Given the description of an element on the screen output the (x, y) to click on. 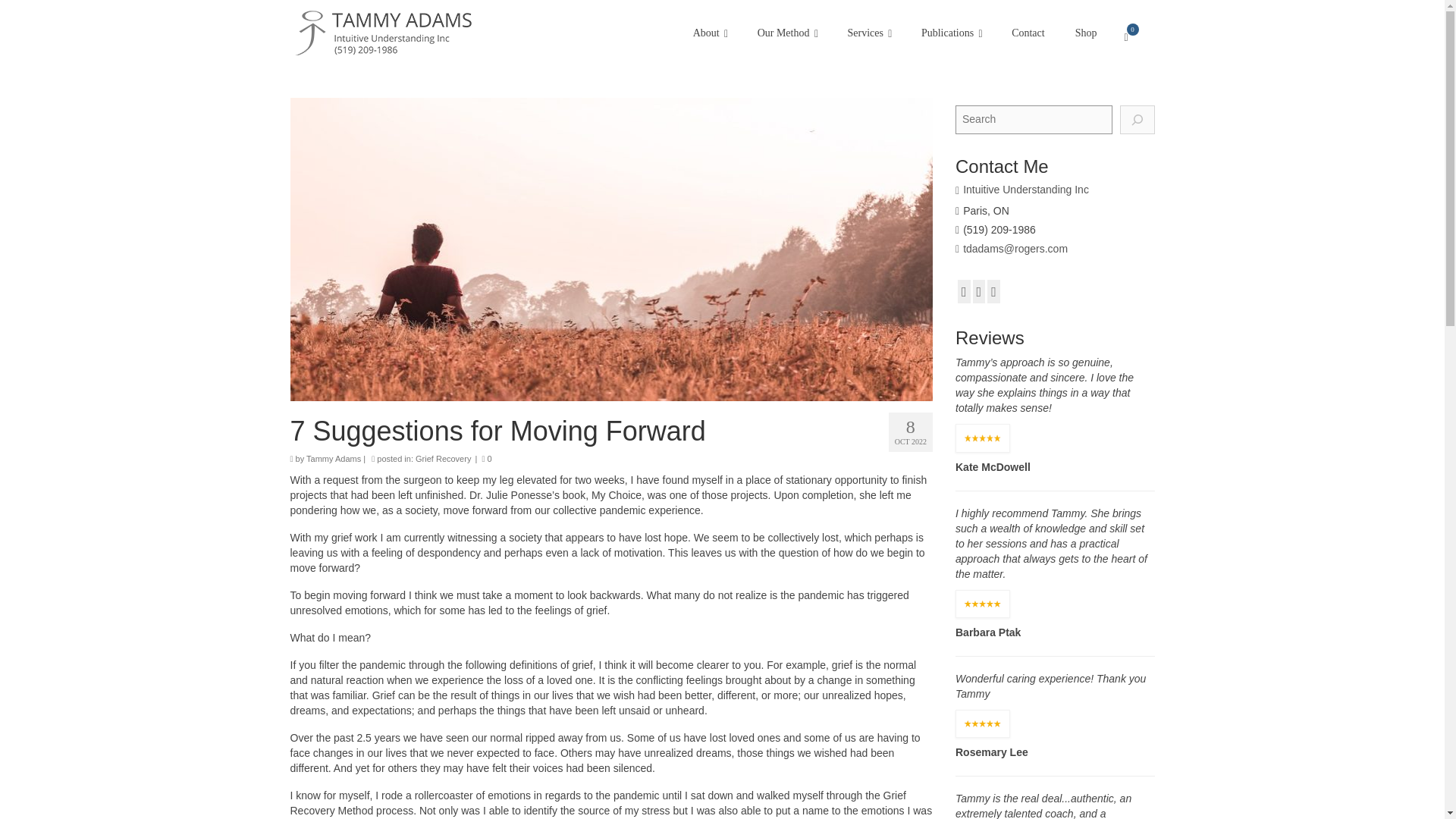
Your Cart (1133, 37)
Intuitive Understanding (428, 33)
Services (868, 32)
0 (1133, 37)
Publications (950, 32)
Shop (1085, 32)
Contact (1027, 32)
Our Method (787, 32)
About (710, 32)
